Given the description of an element on the screen output the (x, y) to click on. 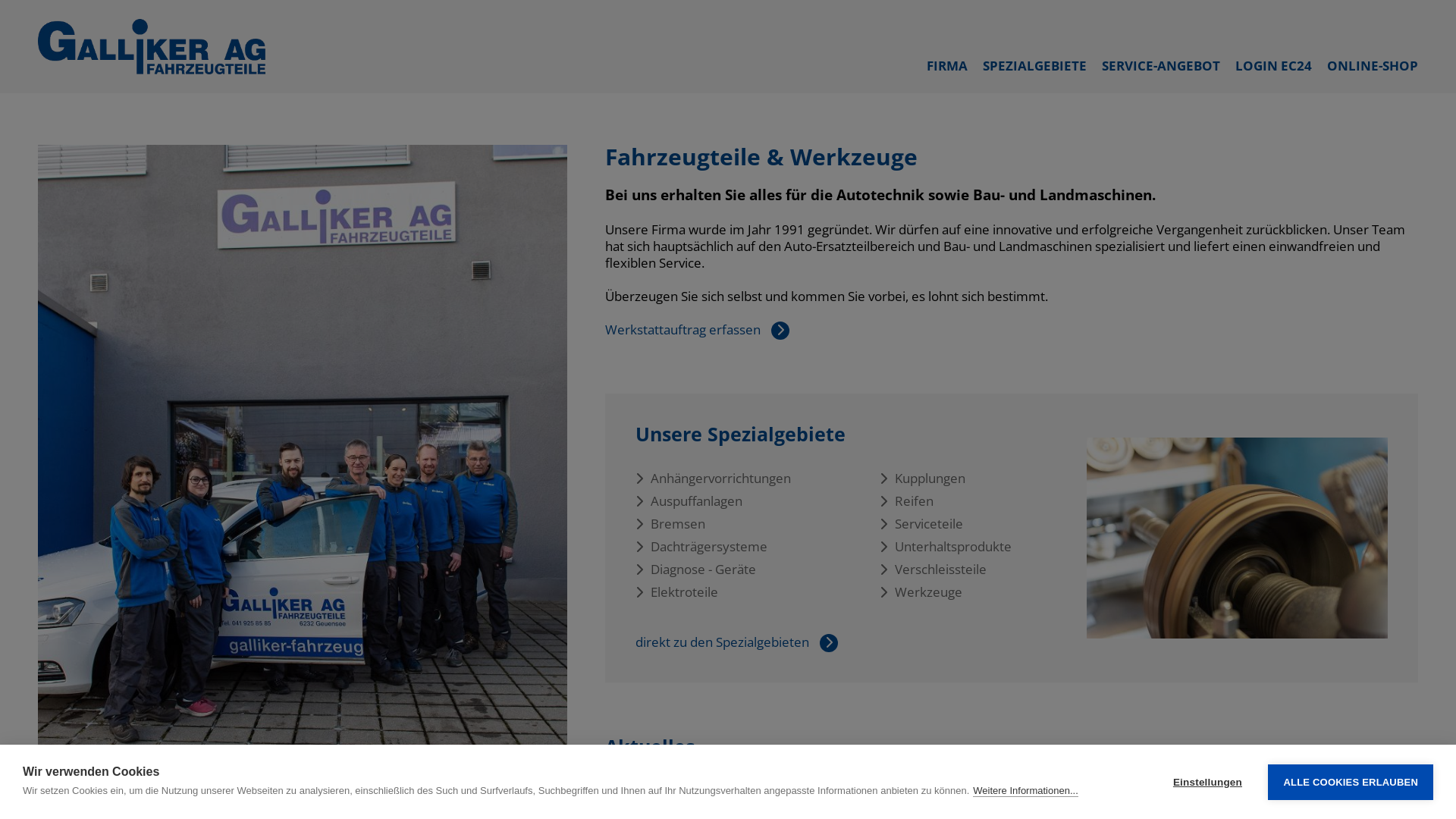
Galliker Fahrzeugteile Element type: hover (151, 46)
direkt zu den Spezialgebieten Element type: text (723, 641)
SPEZIALGEBIETE Element type: text (1034, 65)
Einstellungen Element type: text (1207, 782)
ONLINE-SHOP Element type: text (1372, 65)
Weitere Informationen... Element type: text (1025, 790)
FIRMA Element type: text (946, 65)
Werkstattauftrag erfassen Element type: text (684, 329)
SERVICE-ANGEBOT Element type: text (1160, 65)
ALLE COOKIES ERLAUBEN Element type: text (1350, 782)
LOGIN EC24 Element type: text (1273, 65)
